Given the description of an element on the screen output the (x, y) to click on. 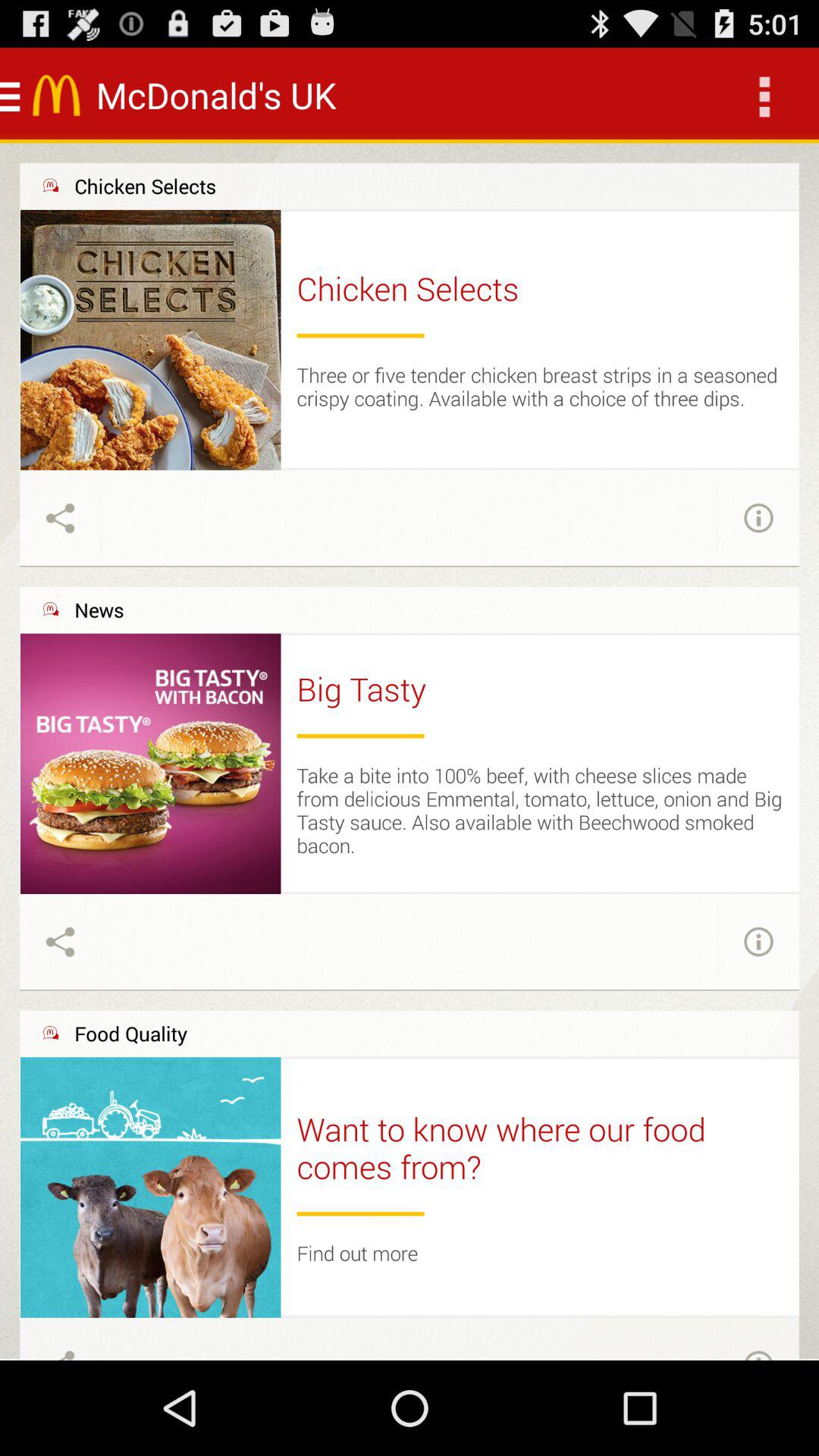
press the food quality item (130, 1033)
